Given the description of an element on the screen output the (x, y) to click on. 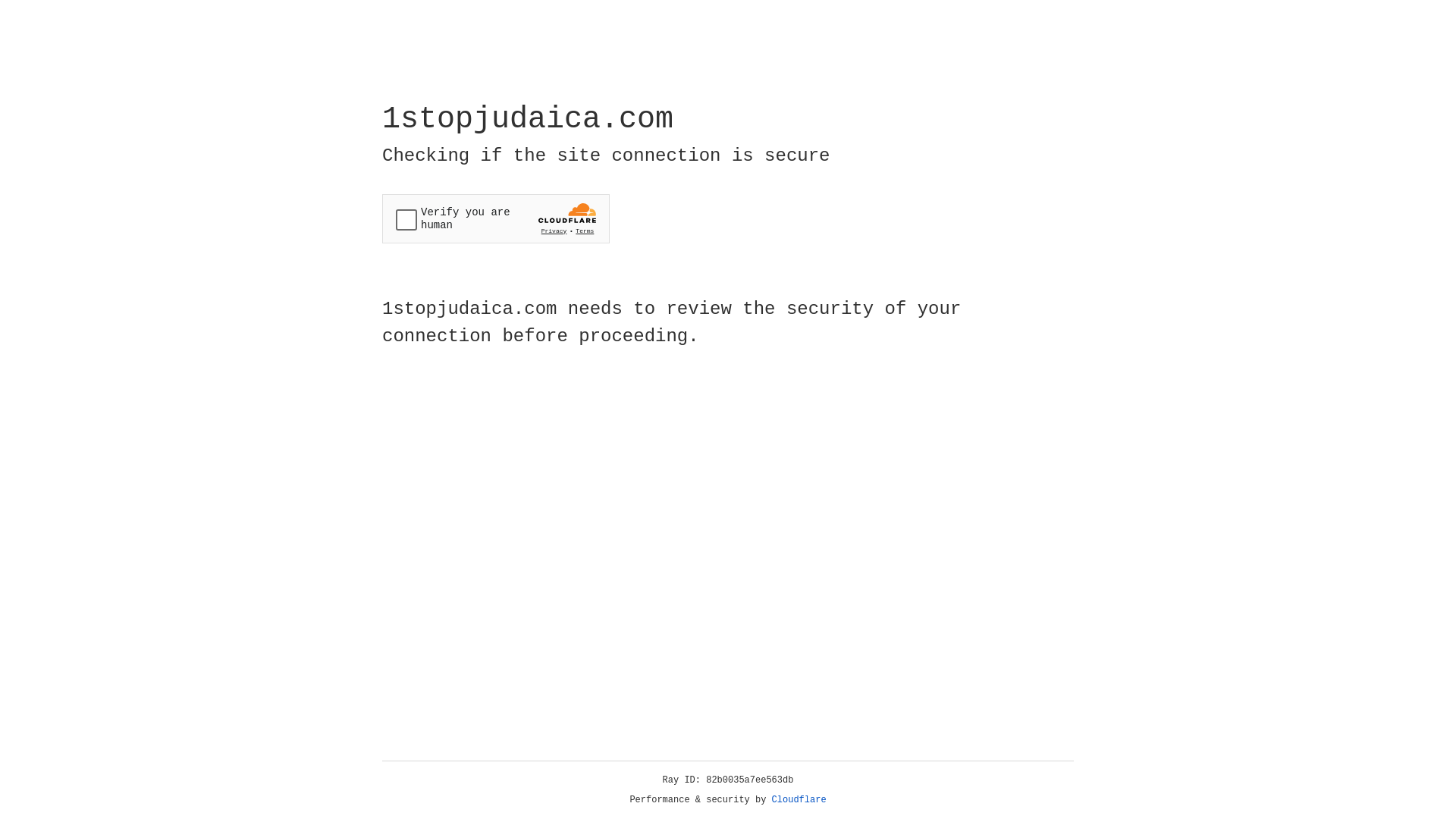
Cloudflare Element type: text (798, 799)
Widget containing a Cloudflare security challenge Element type: hover (495, 218)
